Given the description of an element on the screen output the (x, y) to click on. 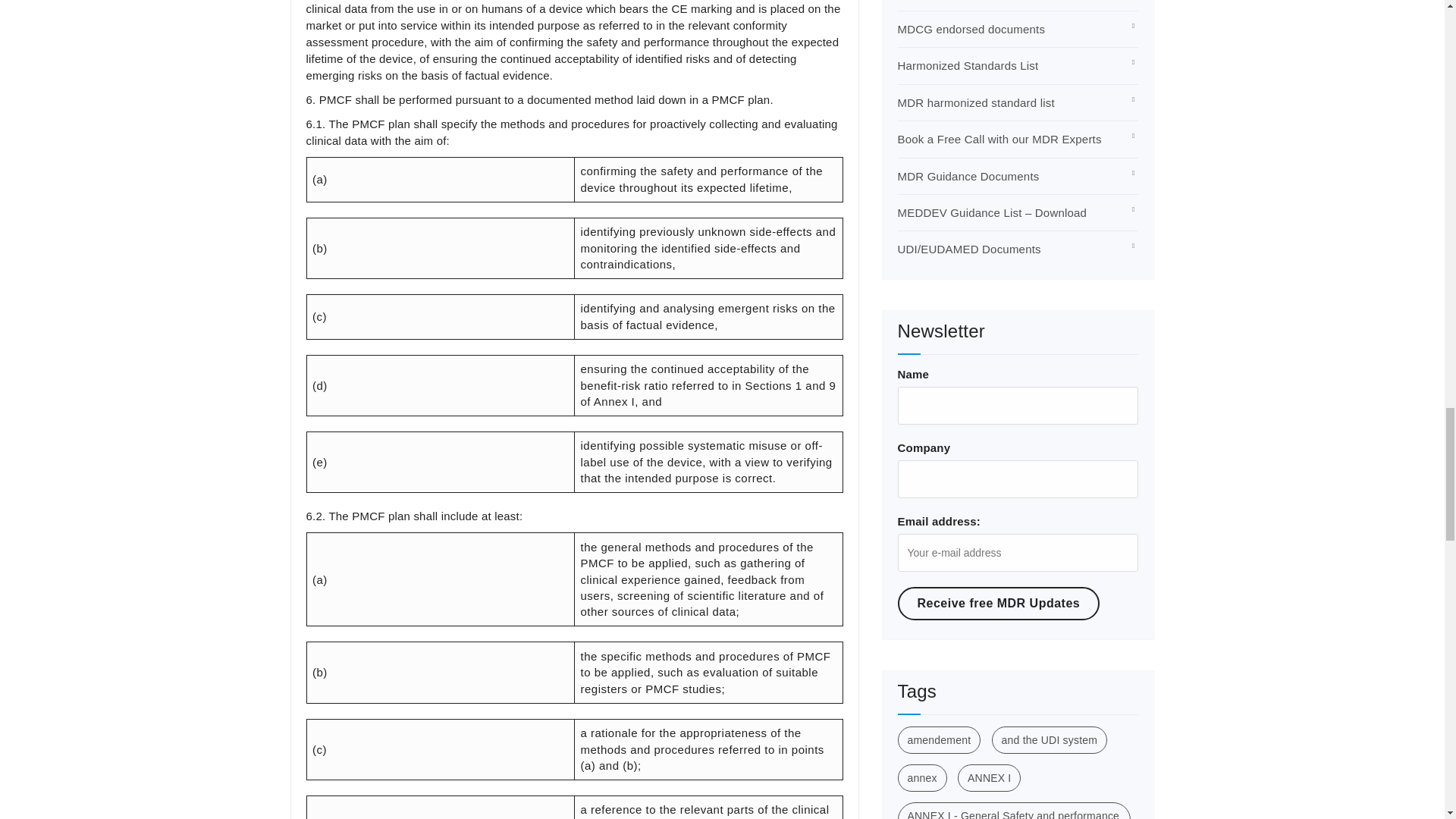
Receive free MDR Updates (999, 603)
